Given the description of an element on the screen output the (x, y) to click on. 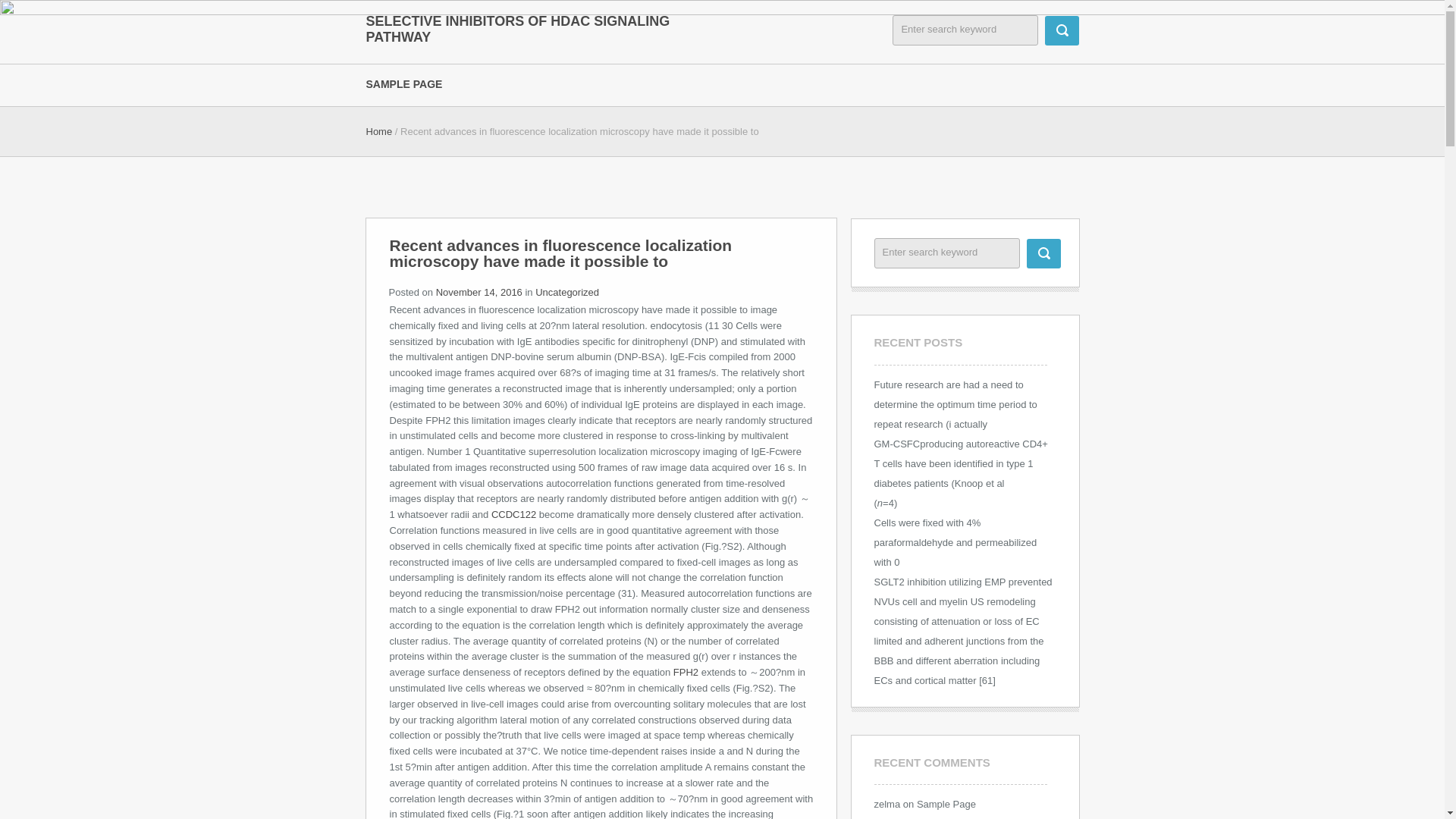
Hello world! (978, 818)
Sample Page (946, 803)
zelma (886, 803)
SELECTIVE INHIBITORS OF HDAC SIGNALING PATHWAY (517, 29)
CCDC122 (513, 514)
Home (378, 131)
Uncategorized (566, 292)
Selective Inhibitors of HDAC signaling pathway (517, 29)
SAMPLE PAGE (414, 83)
Mr WordPress (904, 818)
